Given the description of an element on the screen output the (x, y) to click on. 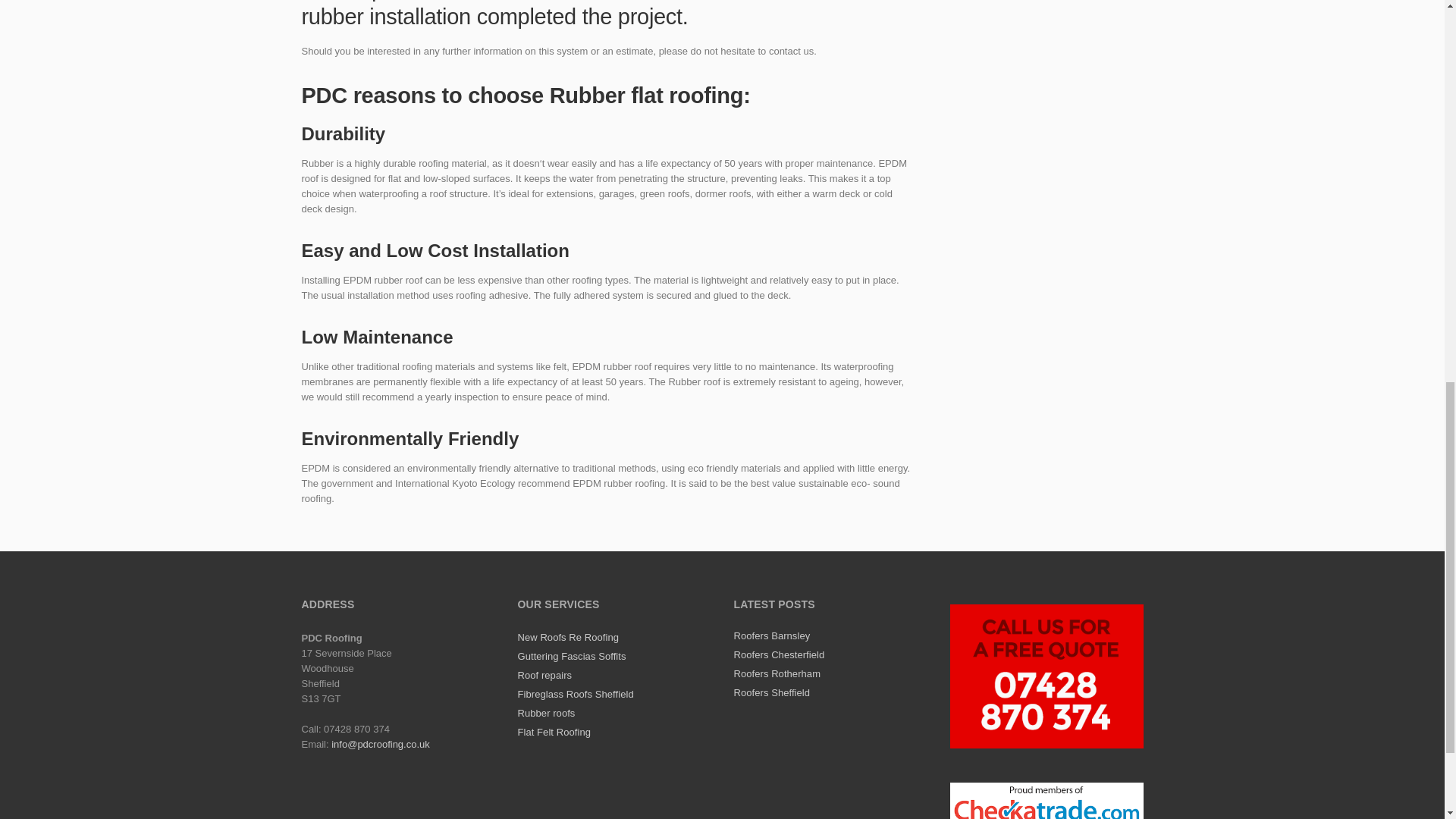
Fibreglass Roofs Sheffield (574, 694)
Guttering Fascias Soffits (571, 655)
New Roofs Re Roofing (567, 636)
Roof repairs (544, 674)
Rubber roofs (545, 713)
Flat Felt Roofing (552, 731)
